Given the description of an element on the screen output the (x, y) to click on. 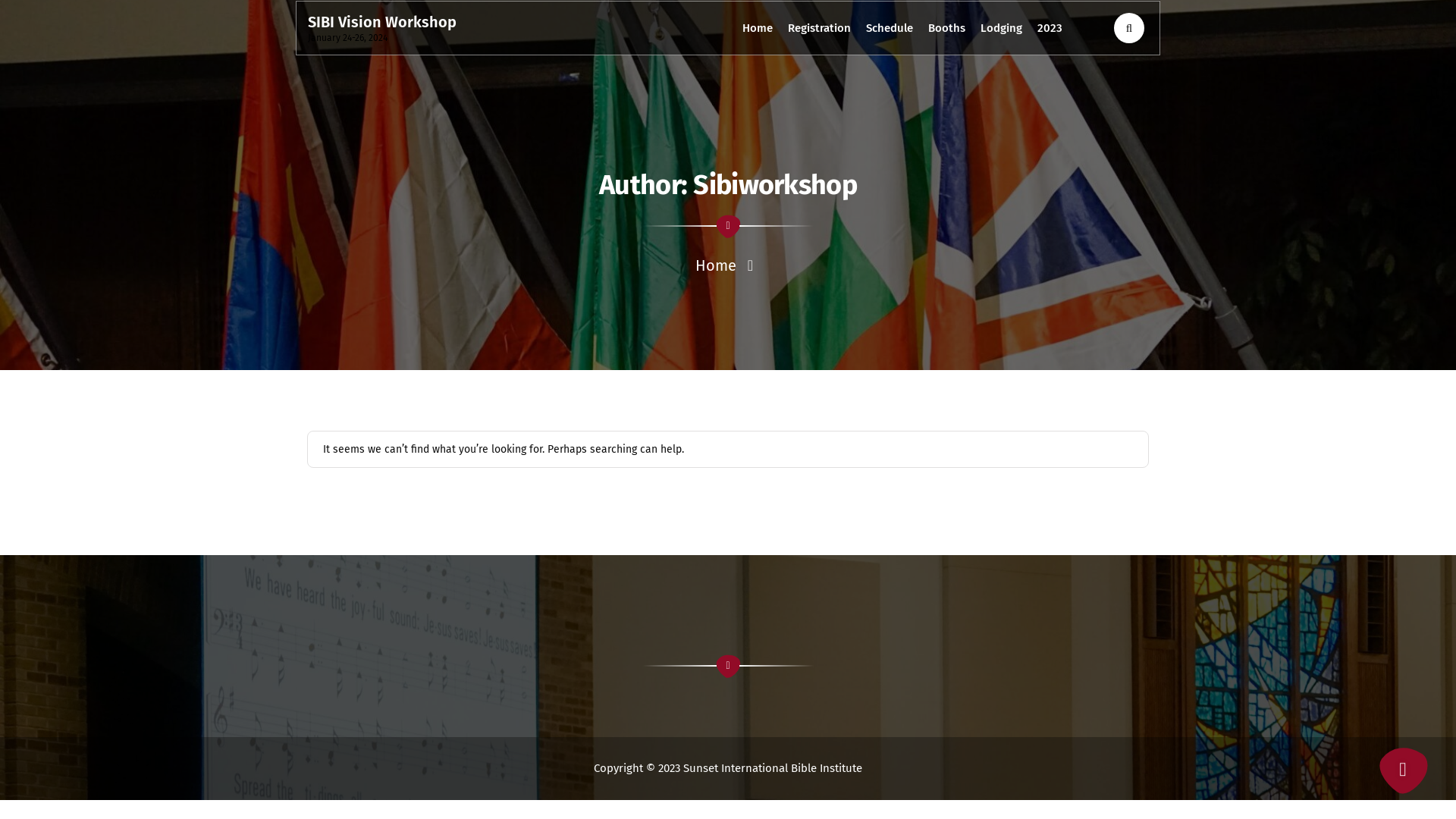
SIBI Vision Workshop Element type: text (381, 21)
Booths Element type: text (946, 27)
2023 Element type: text (1049, 27)
Lodging Element type: text (1000, 27)
Home Element type: text (756, 27)
Registration Element type: text (818, 27)
Schedule Element type: text (889, 27)
Home Element type: text (715, 265)
